Given the description of an element on the screen output the (x, y) to click on. 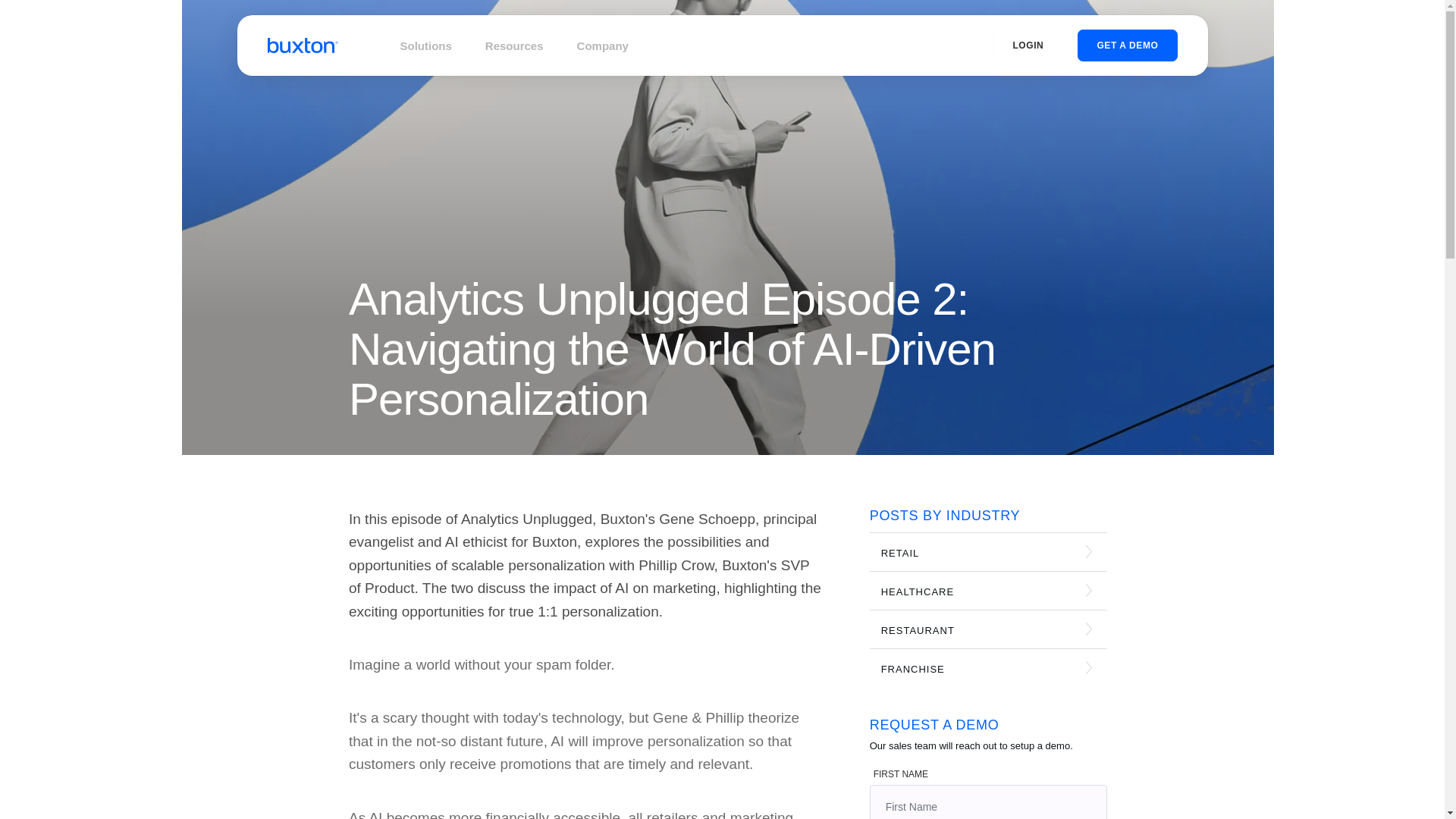
Solutions (426, 45)
GET A DEMO (1126, 45)
LOGIN (1027, 45)
Resources (514, 45)
Company (602, 45)
